Given the description of an element on the screen output the (x, y) to click on. 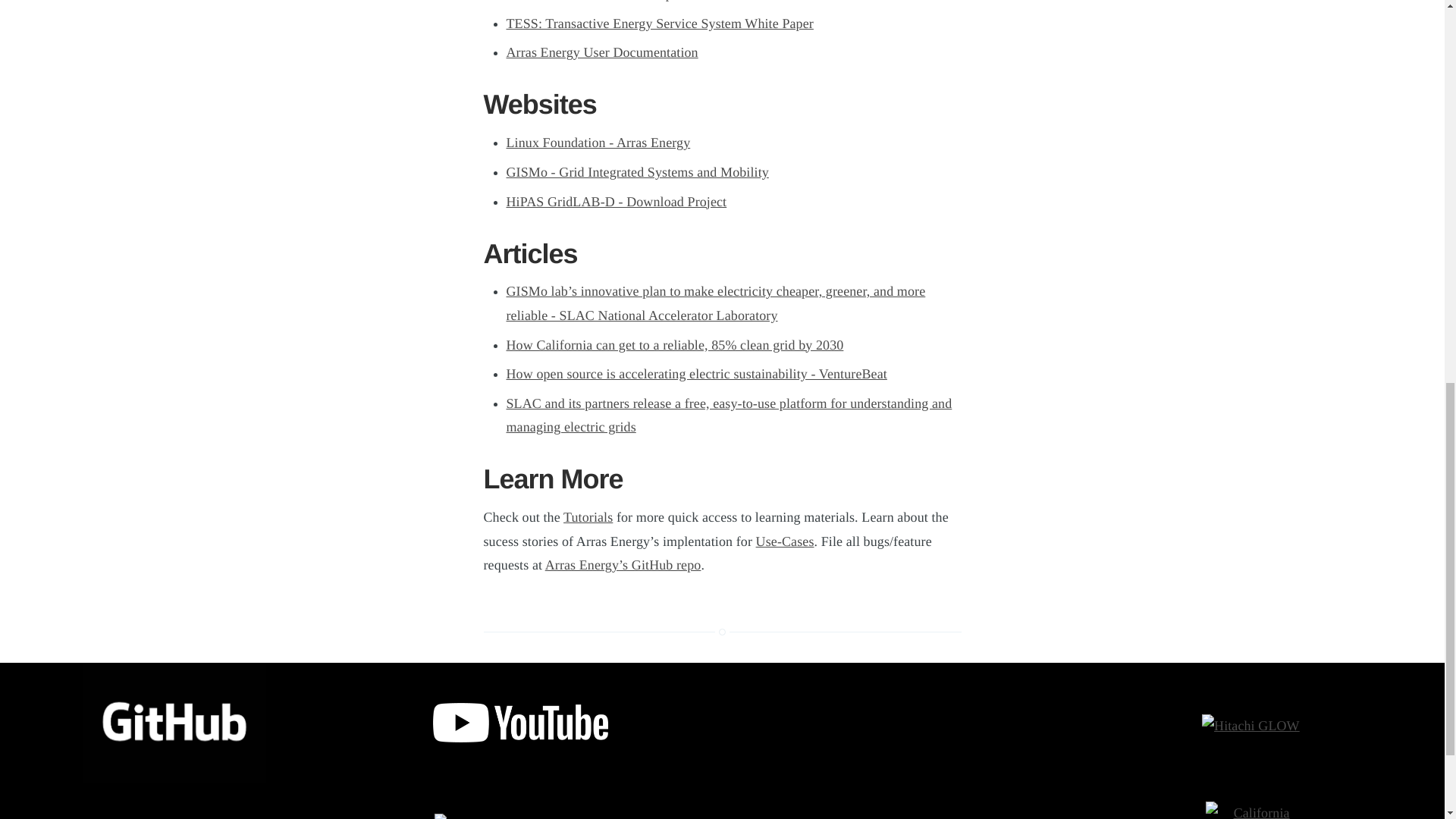
GISMo - Grid Integrated Systems and Mobility (637, 171)
Arras Energy User Documentation (602, 52)
HiPAS GridLAB-D - Download Project (616, 201)
Use-Cases (784, 540)
Linux Foundation - Arras Energy (598, 142)
Tutorials (587, 516)
TESS: Transactive Energy Service System White Paper (659, 23)
